Given the description of an element on the screen output the (x, y) to click on. 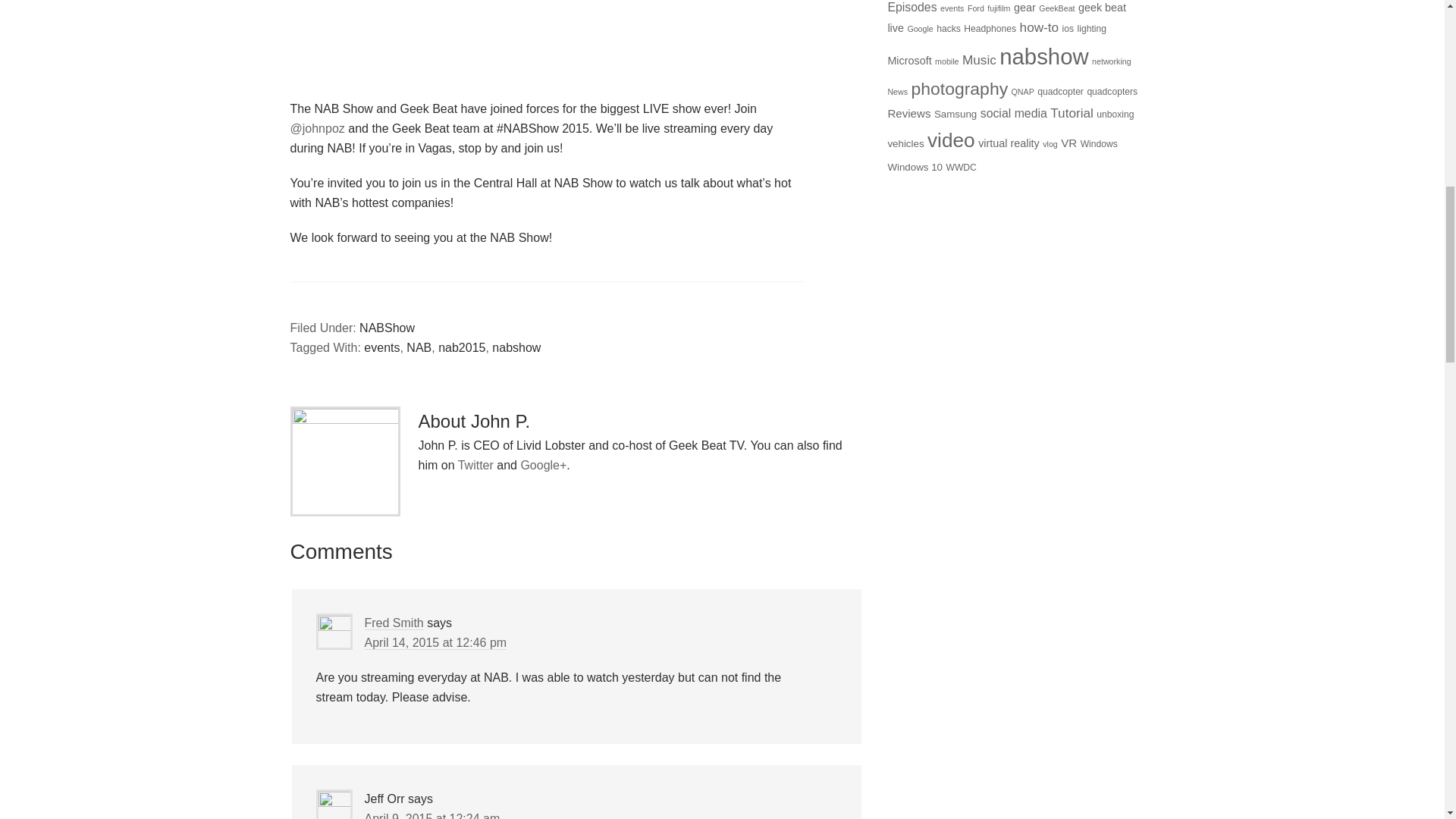
April 14, 2015 at 12:46 pm (435, 643)
NABShow (386, 327)
Fred Smith (393, 622)
nabshow (516, 347)
events (381, 347)
NAB (418, 347)
Twitter (475, 464)
nab2015 (461, 347)
April 9, 2015 at 12:24 am (431, 815)
